Given the description of an element on the screen output the (x, y) to click on. 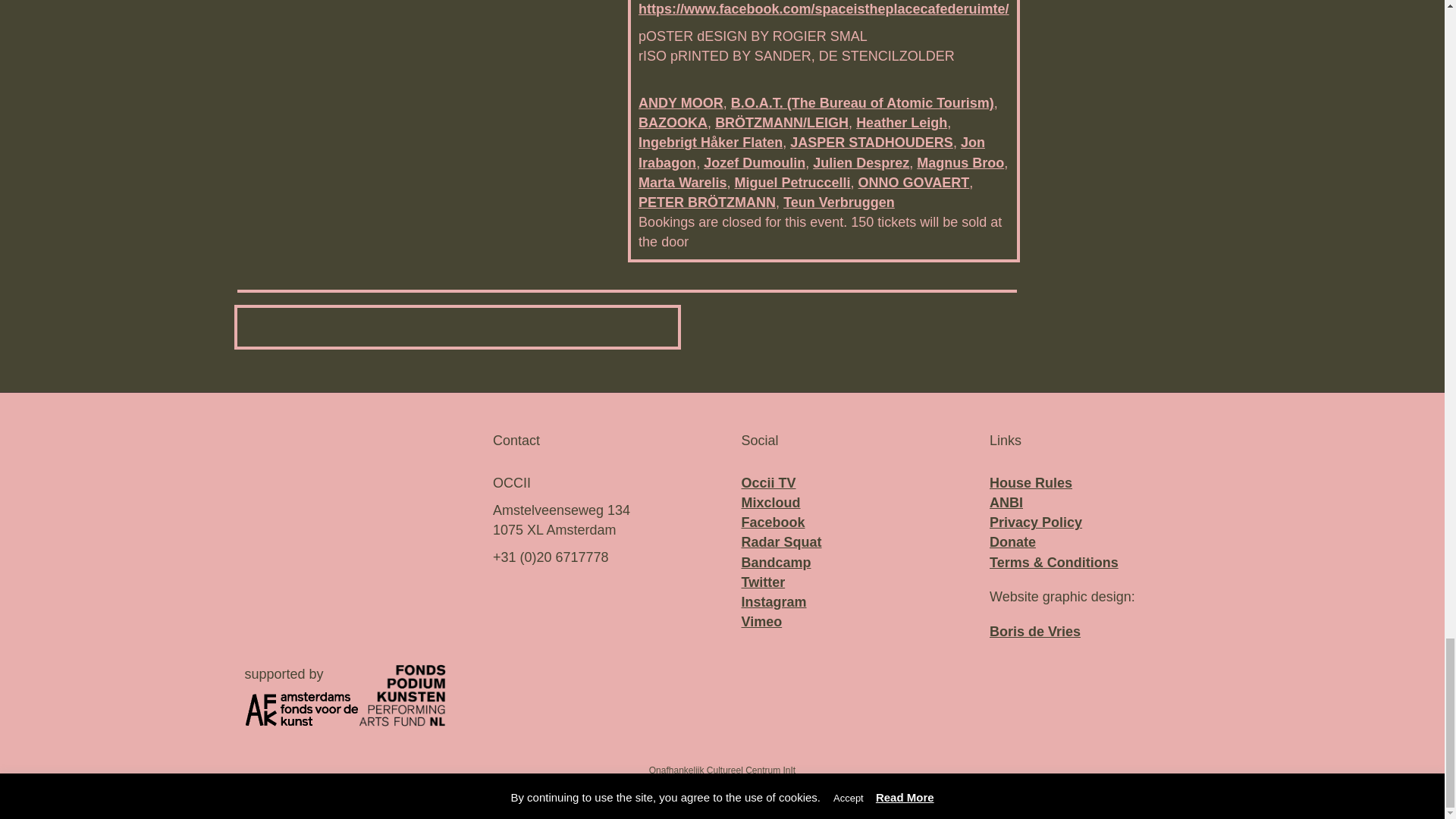
Julien Desprez (860, 162)
Miguel Petruccelli (792, 182)
Jon Irabagon (812, 152)
Marta Warelis (682, 182)
Magnus Broo (960, 162)
JASPER STADHOUDERS (871, 142)
Teun Verbruggen (839, 201)
ONNO GOVAERT (914, 182)
Heather Leigh (901, 122)
BAZOOKA (673, 122)
